Given the description of an element on the screen output the (x, y) to click on. 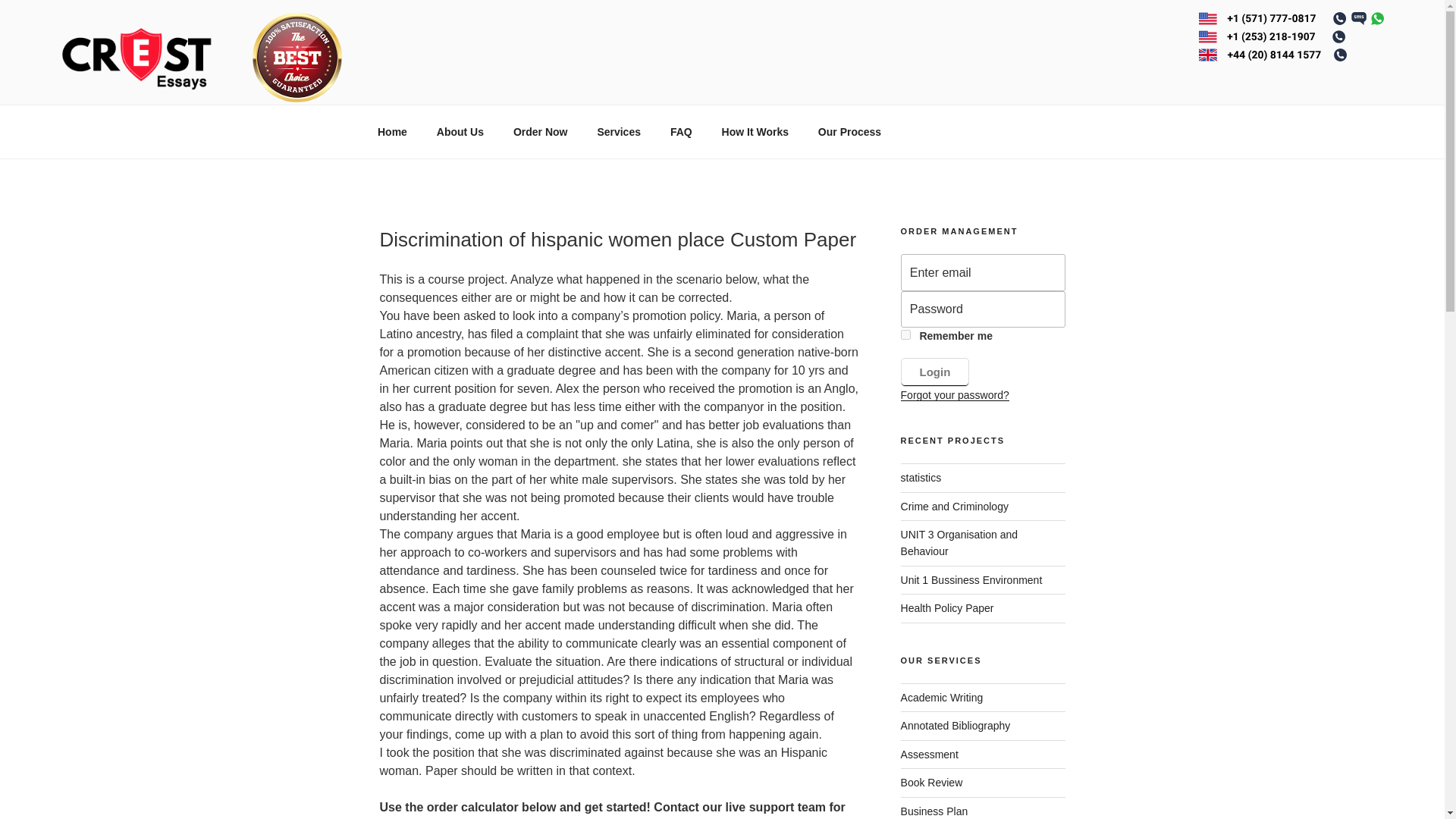
click to Login (935, 371)
Health Policy Paper (947, 607)
How It Works (754, 131)
on (906, 334)
Business Plan (934, 811)
Assessment (929, 754)
Login (935, 371)
Book Review (931, 782)
Forgot your password? (955, 395)
Services (618, 131)
Annotated Bibliography (955, 725)
About Us (459, 131)
Order Now (539, 131)
Home (392, 131)
UNIT 3 Organisation and Behaviour (959, 542)
